Given the description of an element on the screen output the (x, y) to click on. 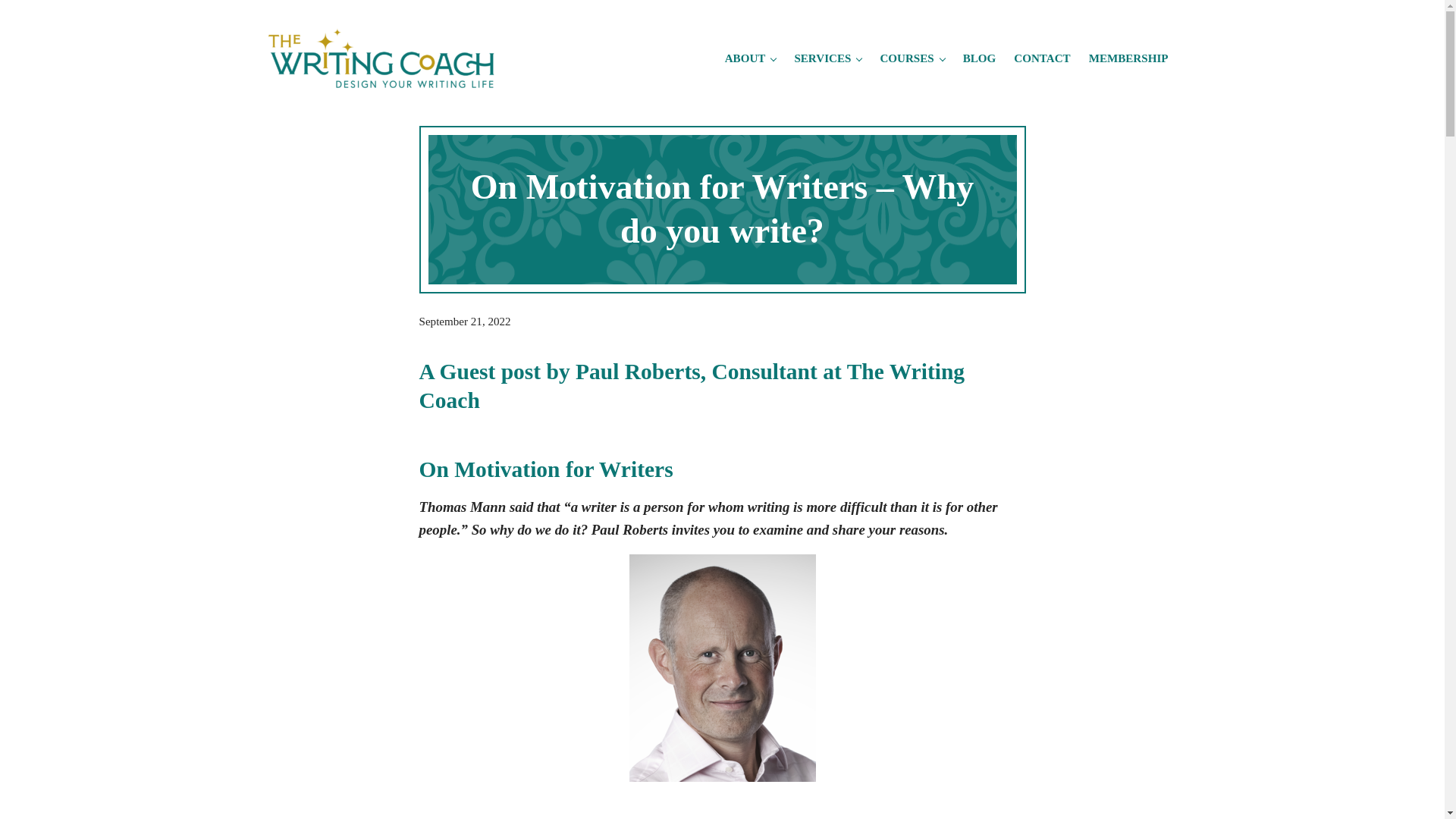
ABOUT (751, 58)
BLOG (979, 58)
COURSES (911, 58)
MEMBERSHIP (1128, 58)
SERVICES (827, 58)
CONTACT (1041, 58)
